Given the description of an element on the screen output the (x, y) to click on. 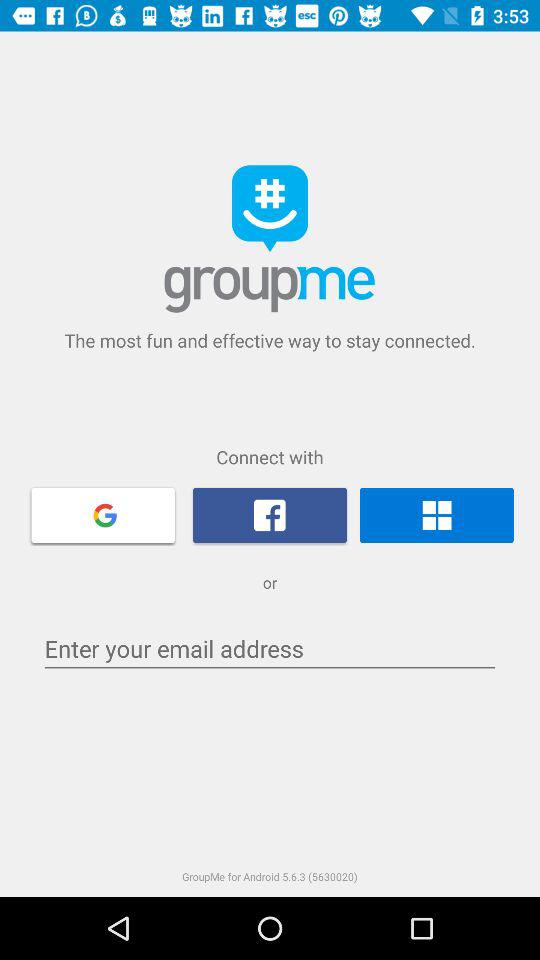
connect to windows session (436, 515)
